Given the description of an element on the screen output the (x, y) to click on. 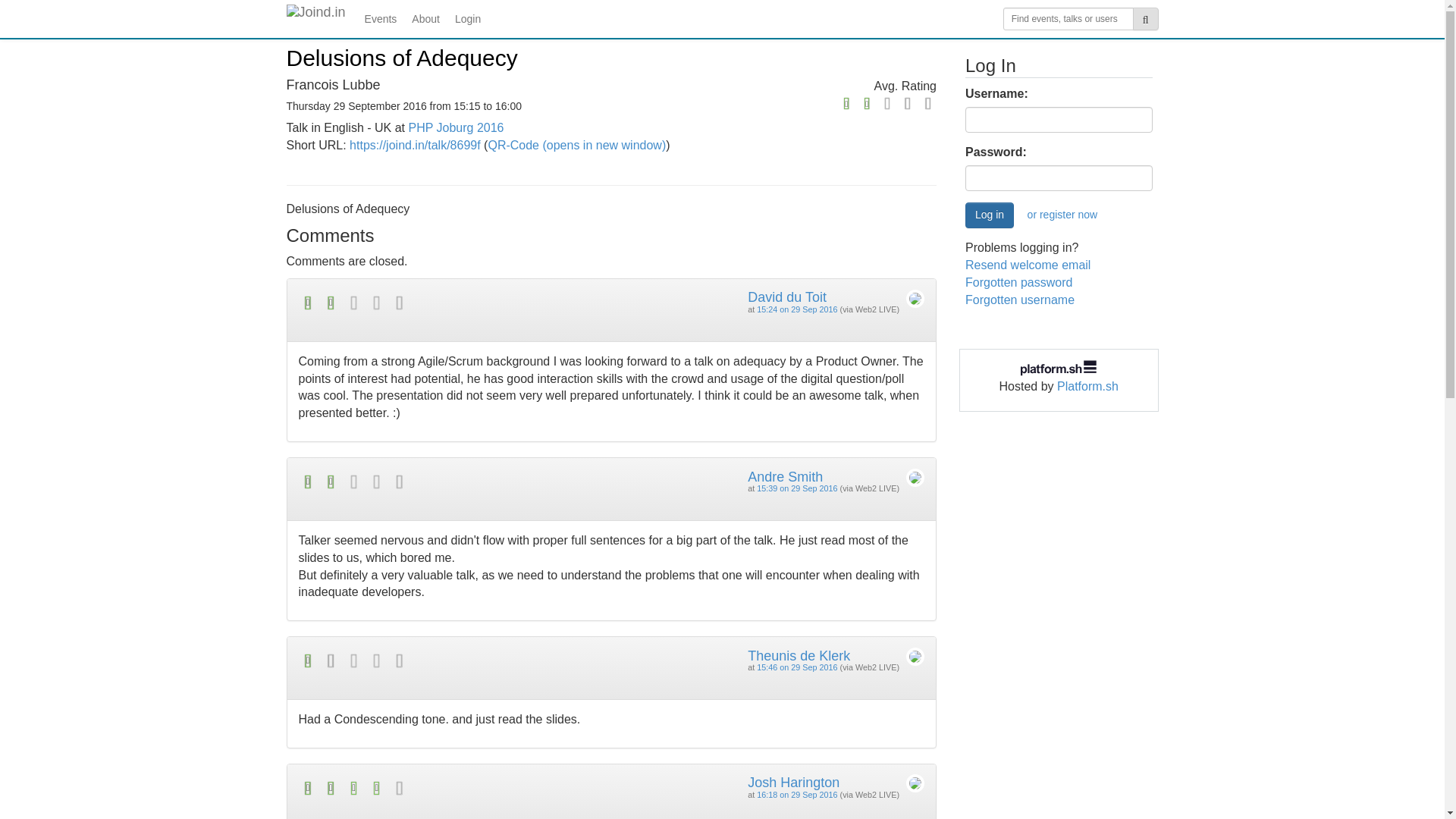
Log in (989, 215)
Rated 4 (454, 787)
Platform.sh (1087, 386)
Resend welcome email (1027, 264)
Events (380, 18)
15:24 on 29 Sep 2016 (797, 308)
or register now (1062, 215)
Log in (989, 215)
15:46 on 29 Sep 2016 (797, 666)
Rated 2 (454, 481)
Josh Harington (794, 782)
PHP Joburg 2016 (455, 127)
15:39 on 29 Sep 2016 (797, 488)
Forgotten username (1019, 299)
Rated 2 (832, 104)
